Given the description of an element on the screen output the (x, y) to click on. 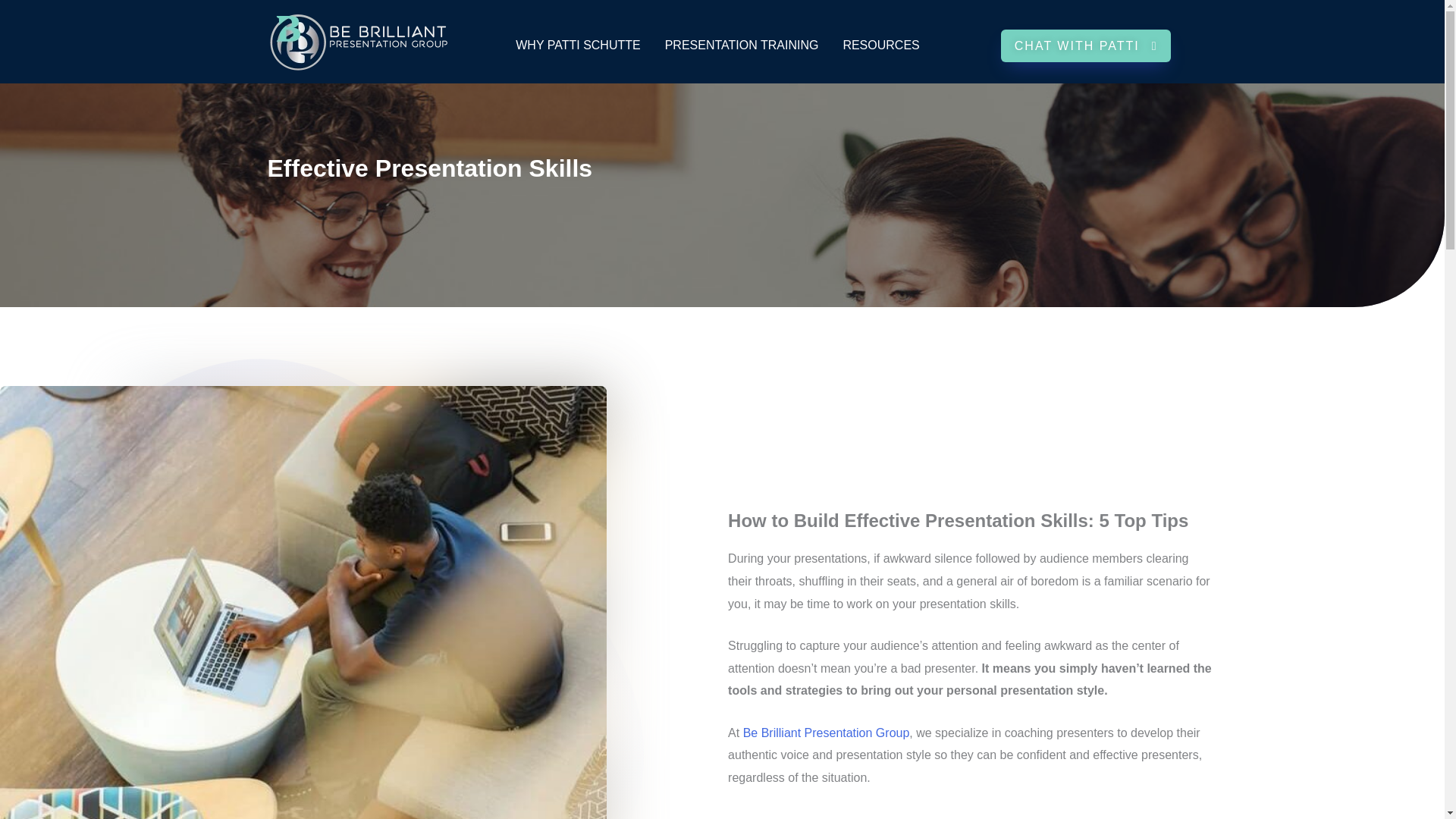
CHAT WITH PATTI (1086, 44)
RESOURCES (879, 45)
WHY PATTI SCHUTTE (577, 45)
PRESENTATION TRAINING (742, 45)
